Given the description of an element on the screen output the (x, y) to click on. 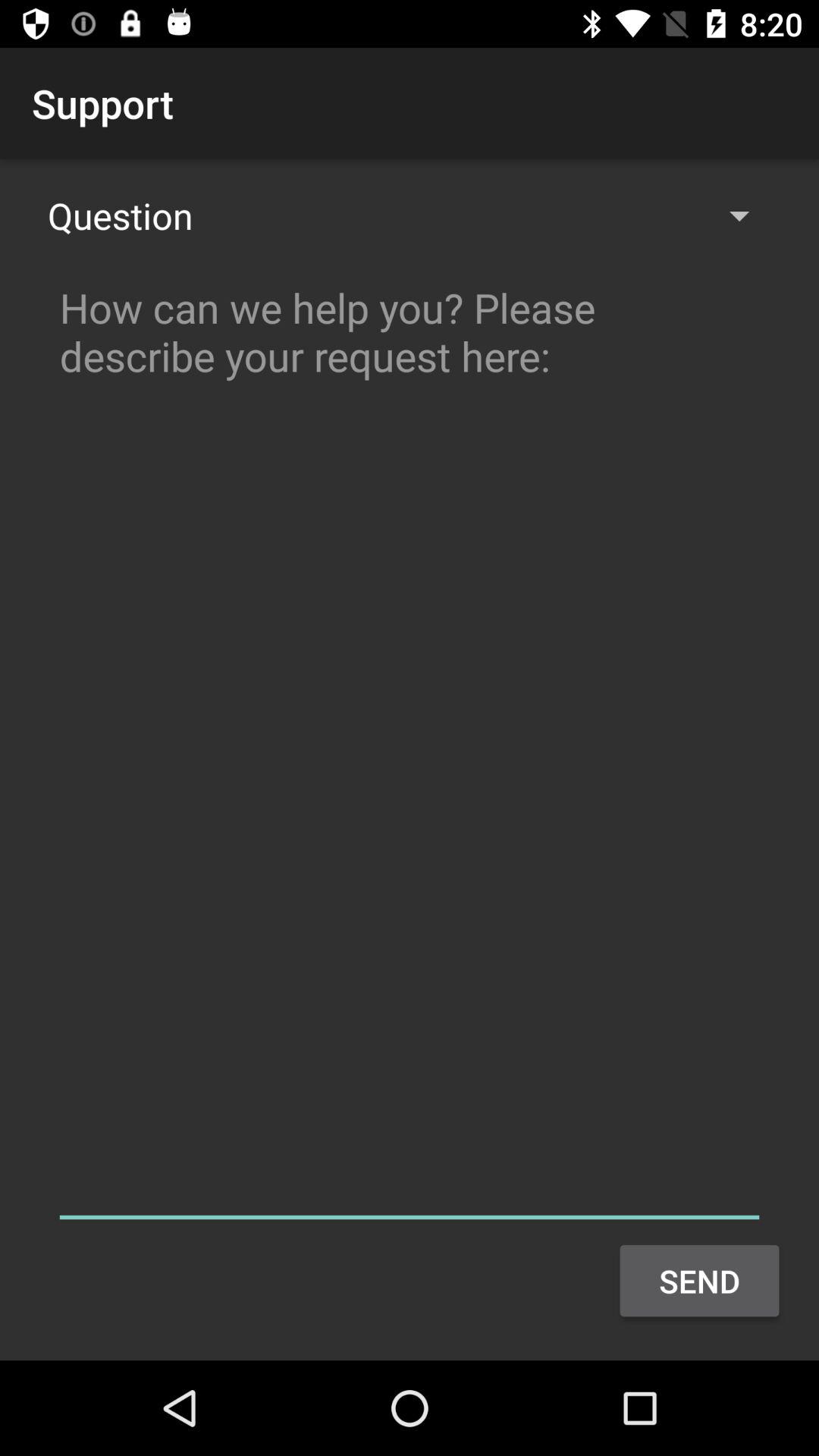
ask question (409, 746)
